Given the description of an element on the screen output the (x, y) to click on. 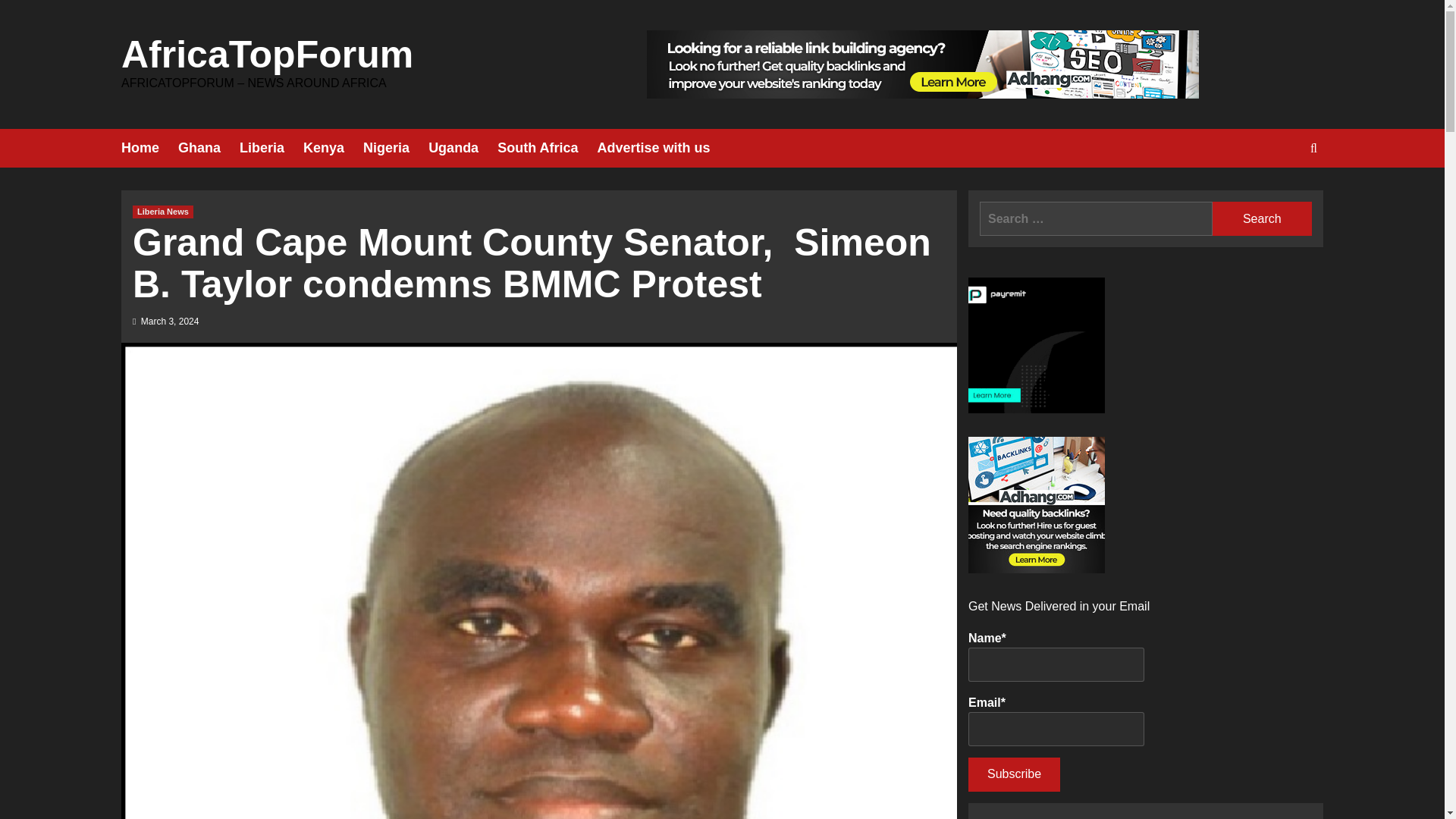
Search (1261, 218)
Subscribe (1013, 774)
South Africa (546, 147)
Subscribe (1013, 774)
Nigeria (395, 147)
Ghana (208, 147)
Liberia News (162, 211)
AfricaTopForum (266, 54)
Search (1261, 218)
March 3, 2024 (170, 321)
